Given the description of an element on the screen output the (x, y) to click on. 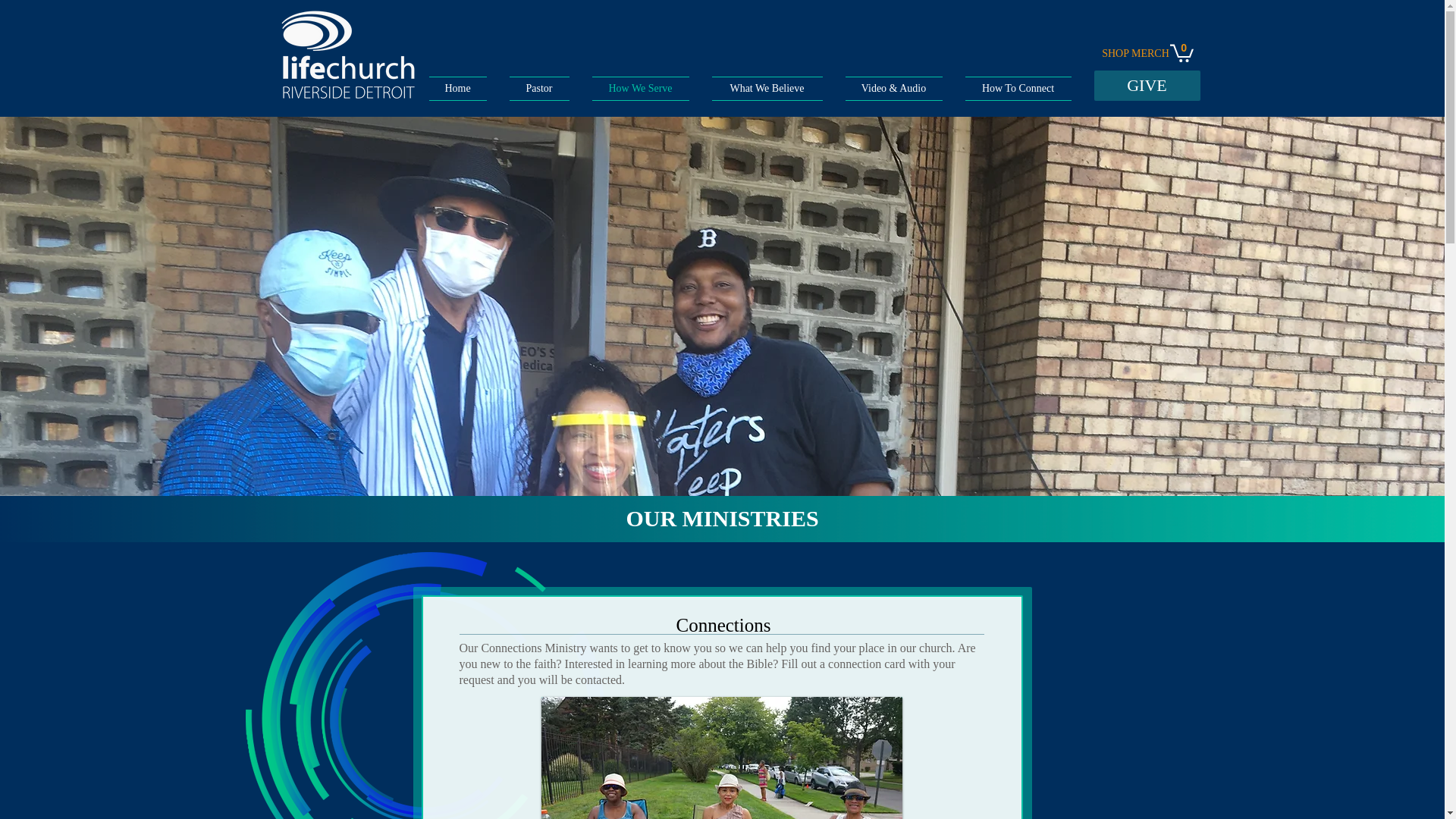
GIVE (1146, 85)
0 (1180, 52)
SHOP MERCH (1136, 53)
What We Believe (767, 88)
0 (1180, 52)
How To Connect (1012, 88)
Home (463, 88)
How We Serve (640, 88)
Pastor (538, 88)
